Given the description of an element on the screen output the (x, y) to click on. 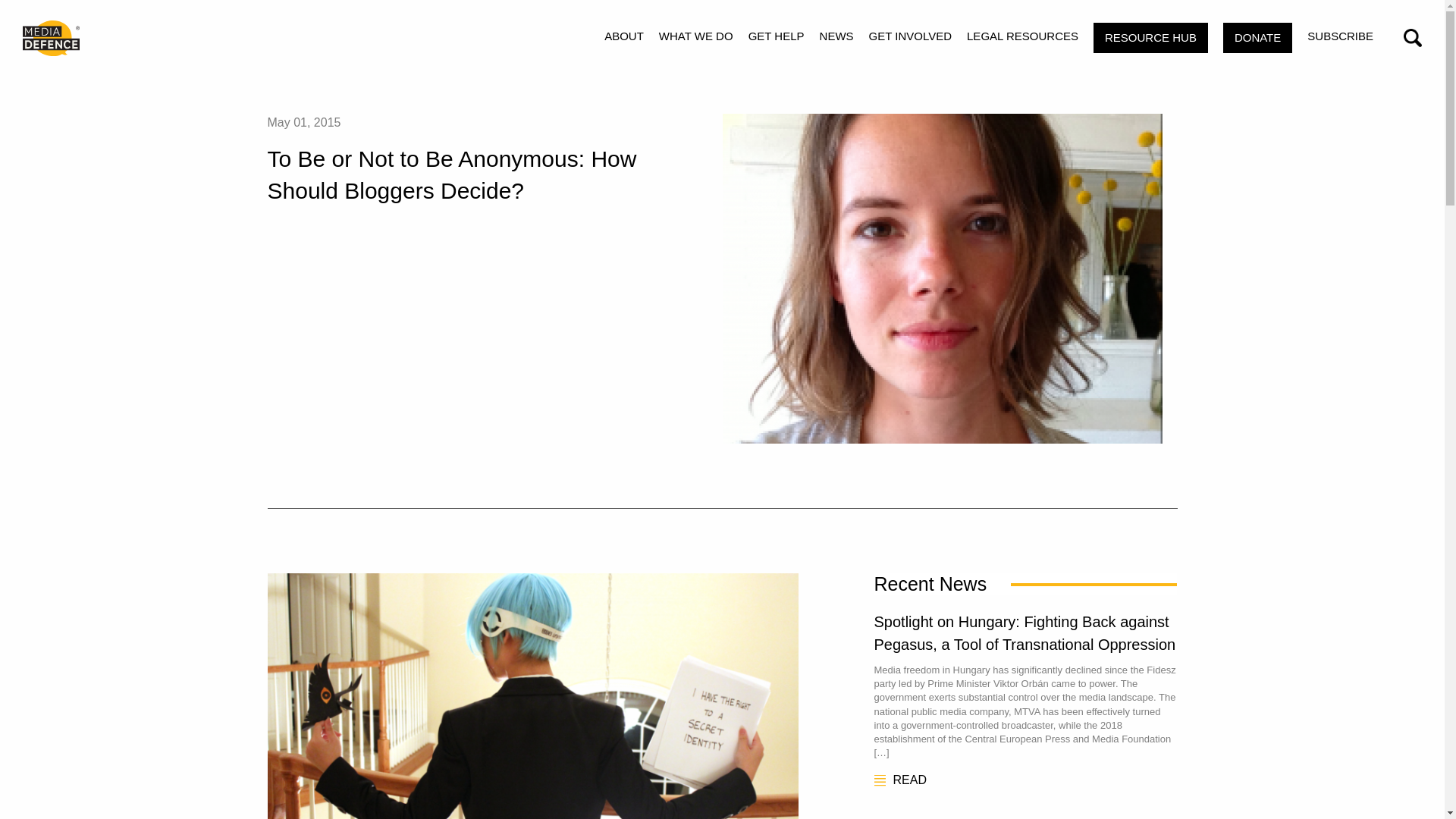
GET INVOLVED (910, 38)
ABOUT (623, 38)
DONATE (1257, 37)
SUBSCRIBE (1340, 38)
LEGAL RESOURCES (1022, 38)
RESOURCE HUB (1150, 37)
WHAT WE DO (696, 38)
GET HELP (776, 38)
NEWS (836, 38)
